Given the description of an element on the screen output the (x, y) to click on. 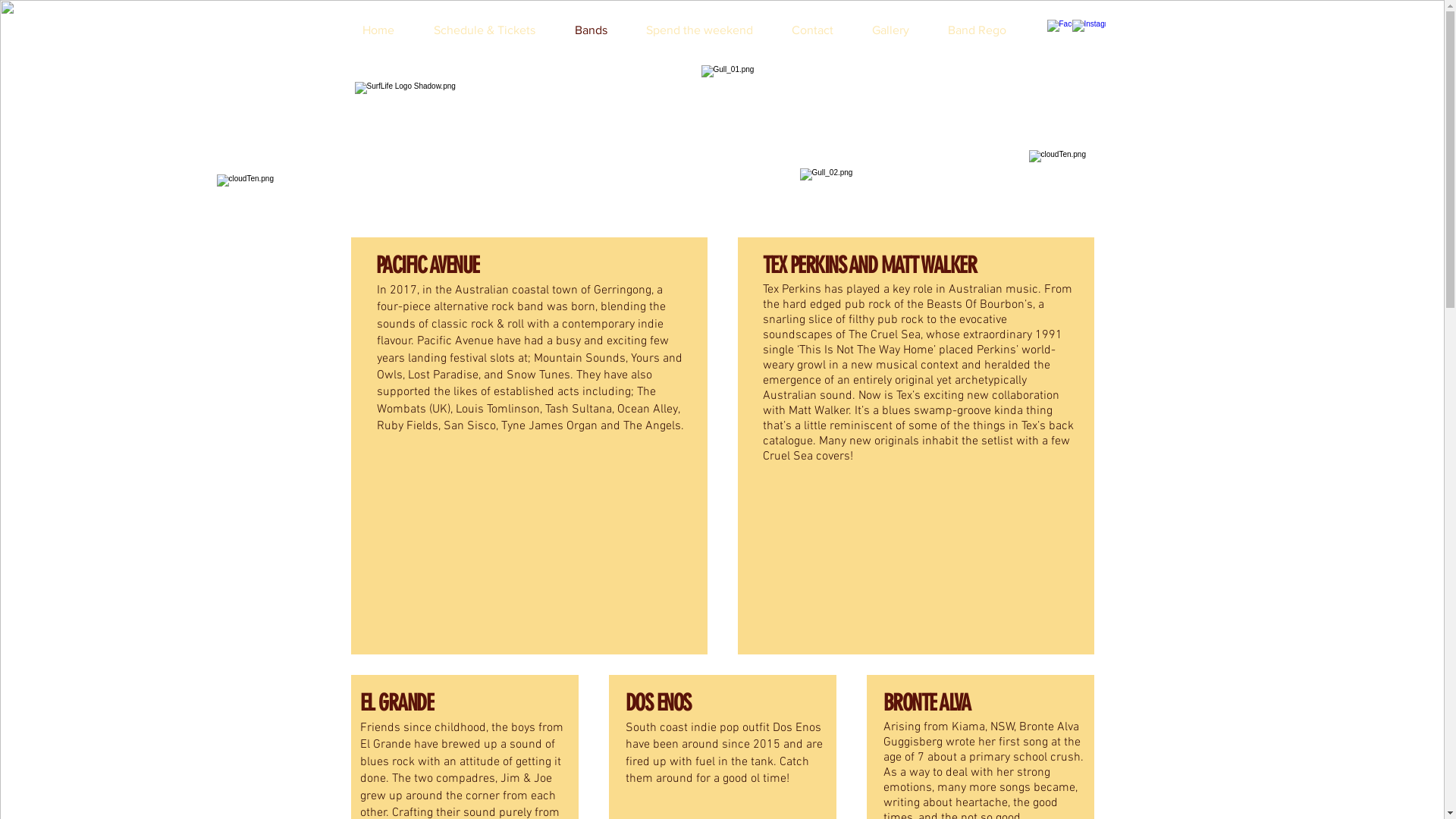
Bands Element type: text (597, 30)
Gallery Element type: text (897, 30)
Home Element type: text (385, 30)
Schedule & Tickets Element type: text (491, 30)
Spend the weekend Element type: text (706, 30)
Band Rego Element type: text (983, 30)
Contact Element type: text (819, 30)
